Given the description of an element on the screen output the (x, y) to click on. 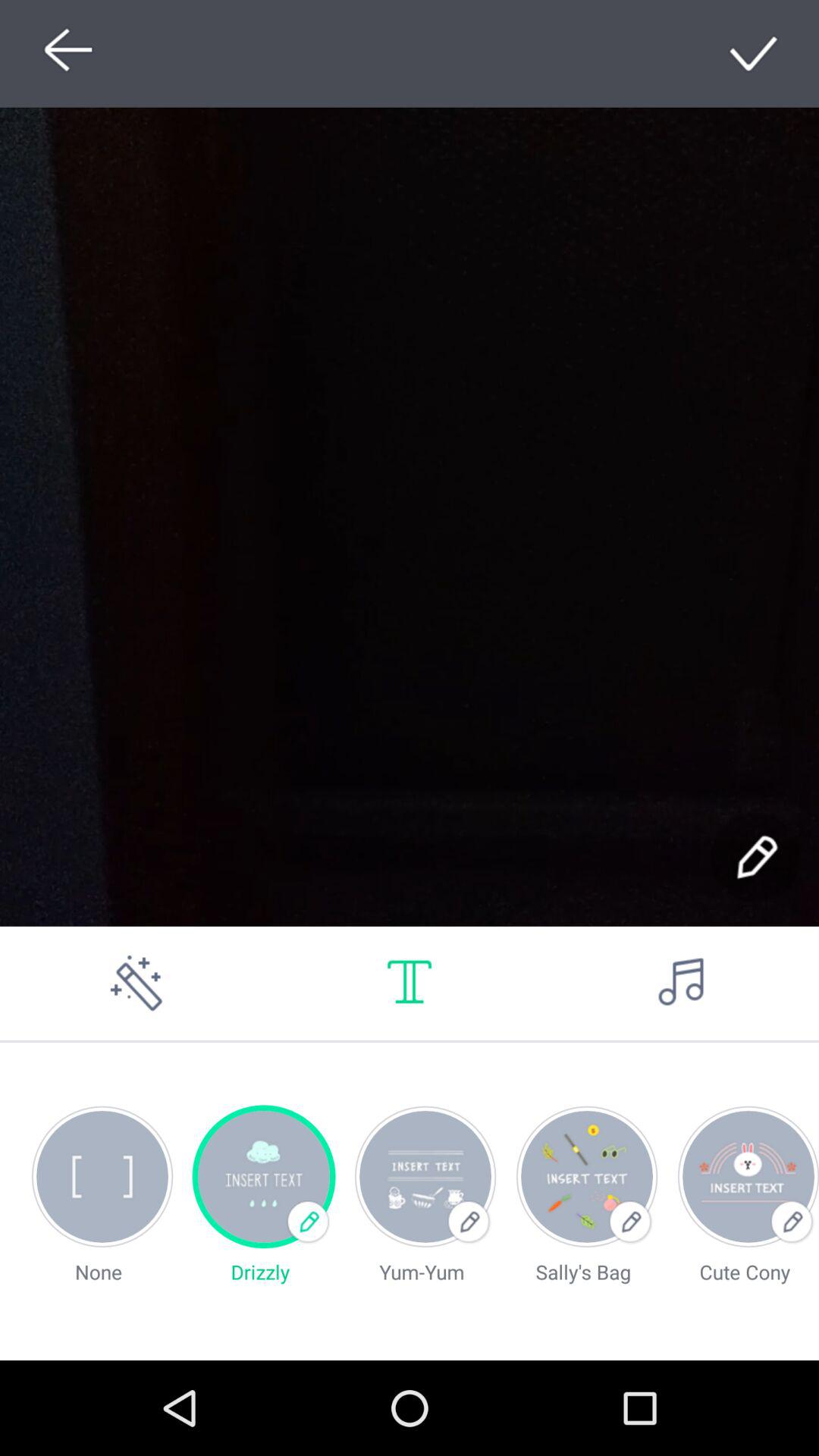
go back previous (63, 53)
